Given the description of an element on the screen output the (x, y) to click on. 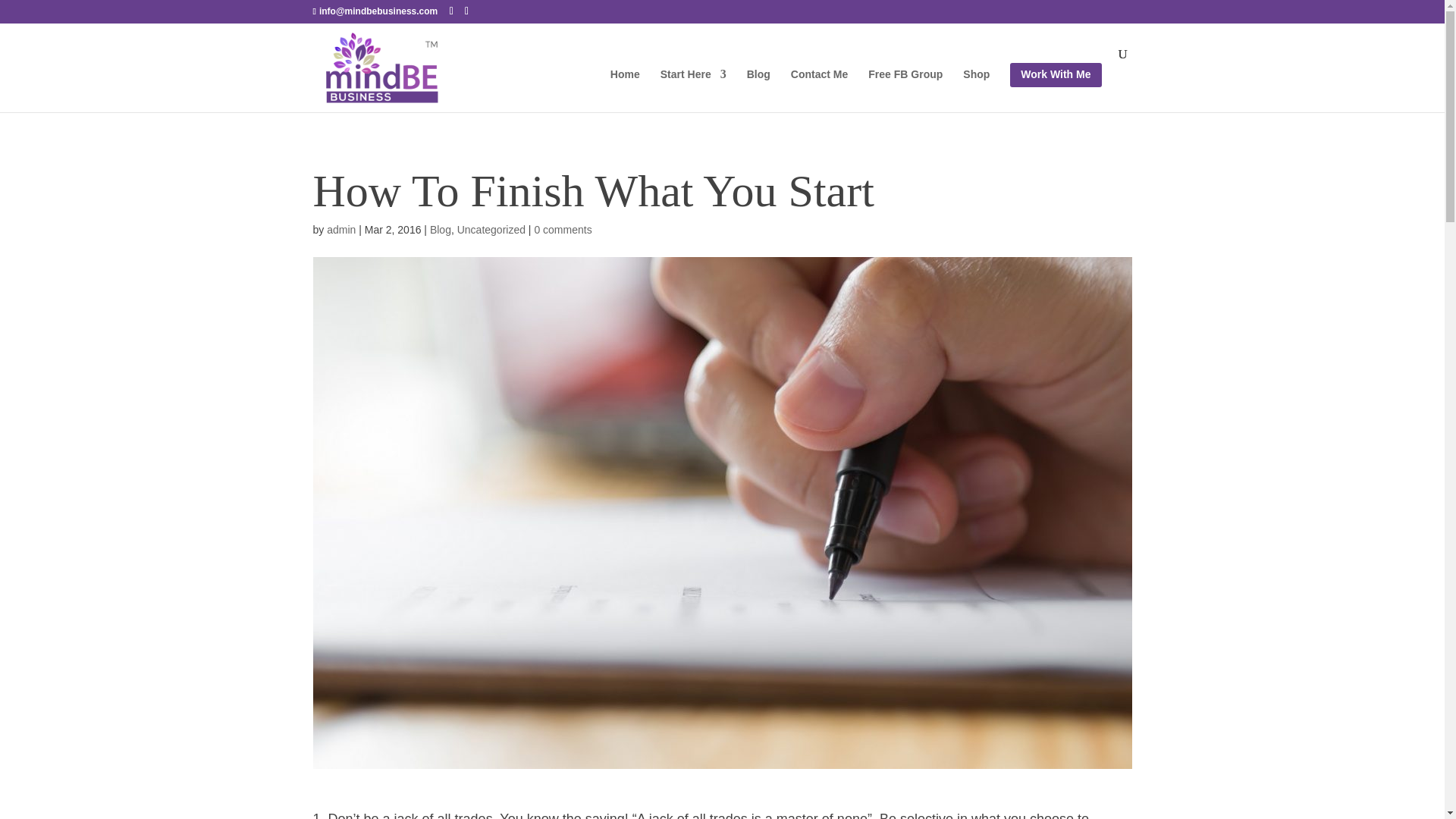
Start Here (693, 86)
0 comments (562, 229)
Free FB Group (904, 86)
Posts by admin (340, 229)
Uncategorized (491, 229)
Work With Me (1055, 87)
admin (340, 229)
Contact Me (818, 86)
Blog (440, 229)
